Given the description of an element on the screen output the (x, y) to click on. 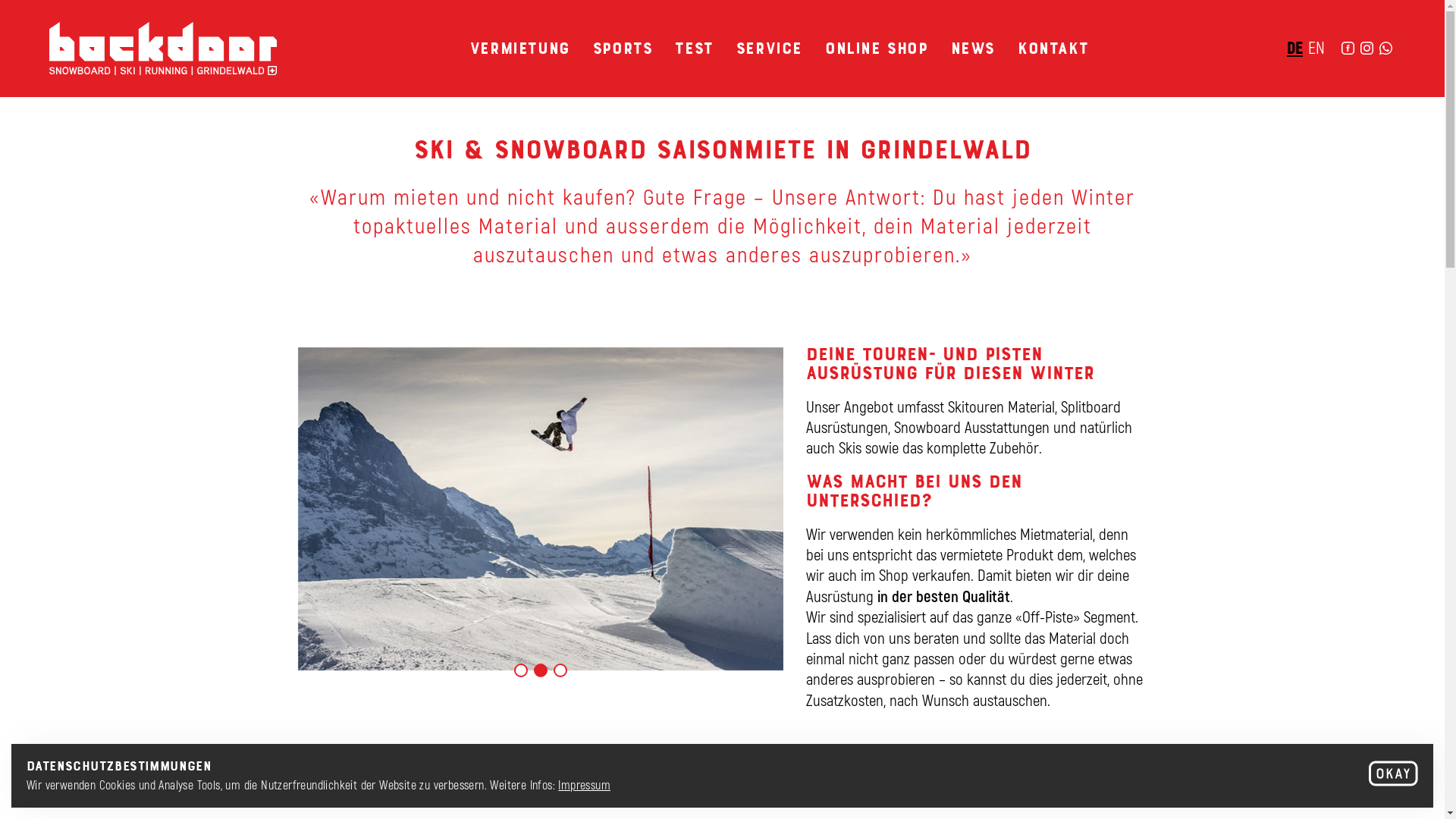
DE Element type: text (1294, 46)
News Element type: text (972, 46)
Vermietung Element type: text (519, 46)
Impressum Element type: text (584, 784)
Test Element type: text (693, 46)
Service Element type: text (768, 46)
Sports Element type: text (622, 46)
Kontakt Element type: text (1052, 46)
service_skisnowboard_01 Element type: hover (540, 509)
Online Shop Element type: text (876, 46)
EN Element type: text (1315, 46)
